Given the description of an element on the screen output the (x, y) to click on. 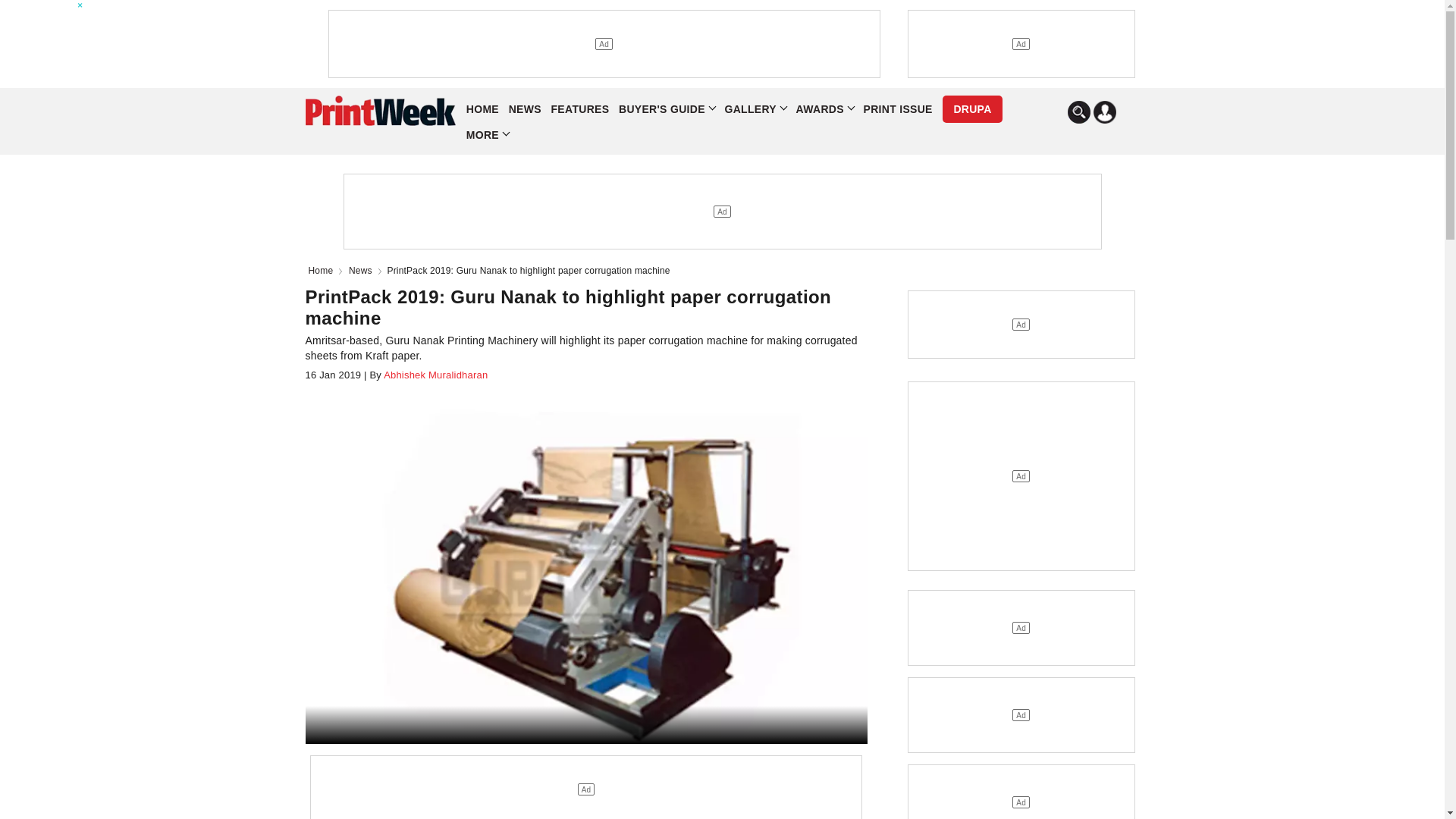
Search In PrintWeek India Website (1078, 111)
MORE (487, 134)
GALLERY (754, 109)
DRUPA (971, 108)
FEATURES (580, 109)
News (363, 270)
AWARDS (825, 109)
PRINT ISSUE (897, 109)
Abhishek Muralidharan (434, 374)
Home (323, 270)
